Given the description of an element on the screen output the (x, y) to click on. 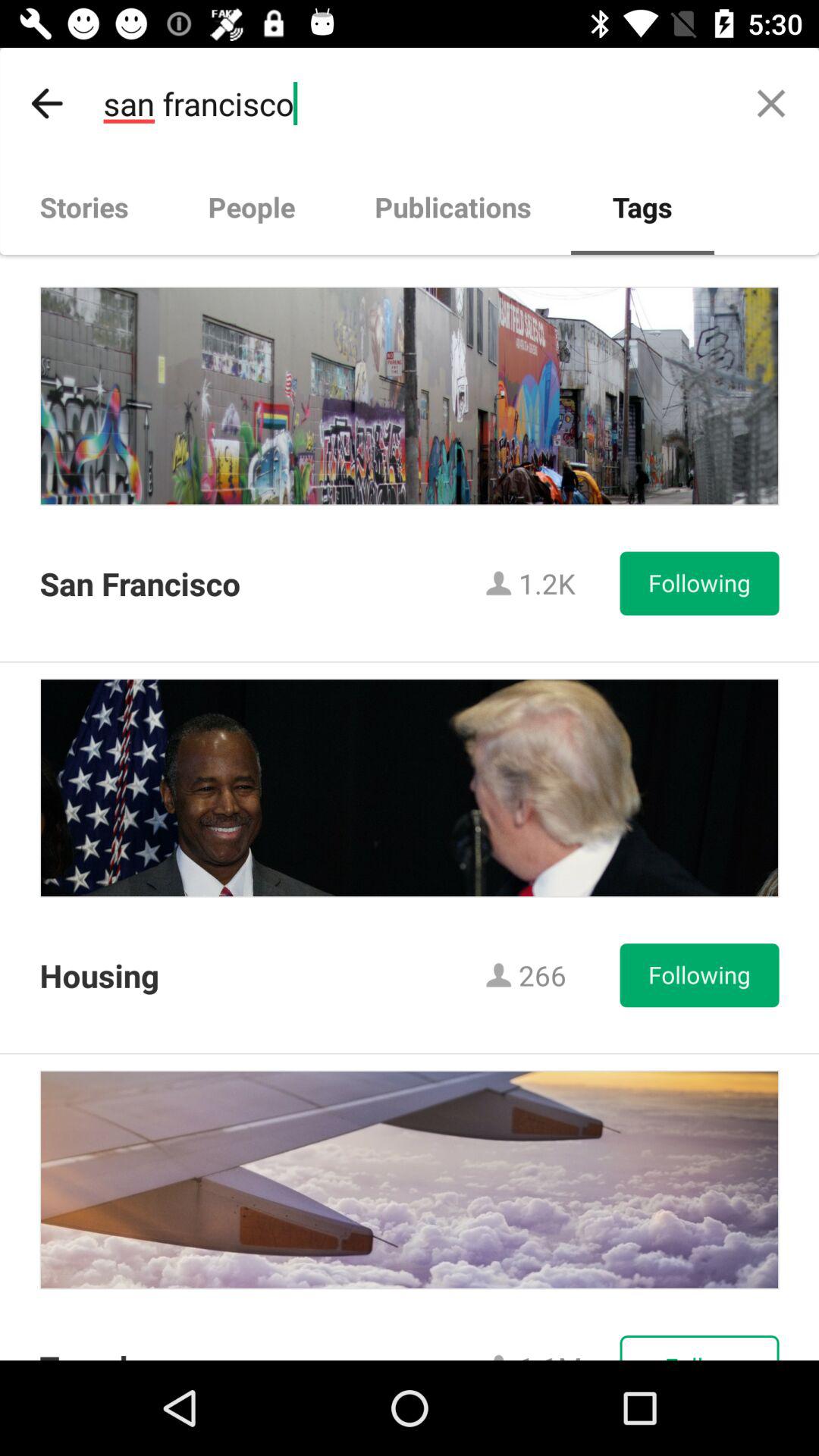
click icon above stories item (47, 103)
